Given the description of an element on the screen output the (x, y) to click on. 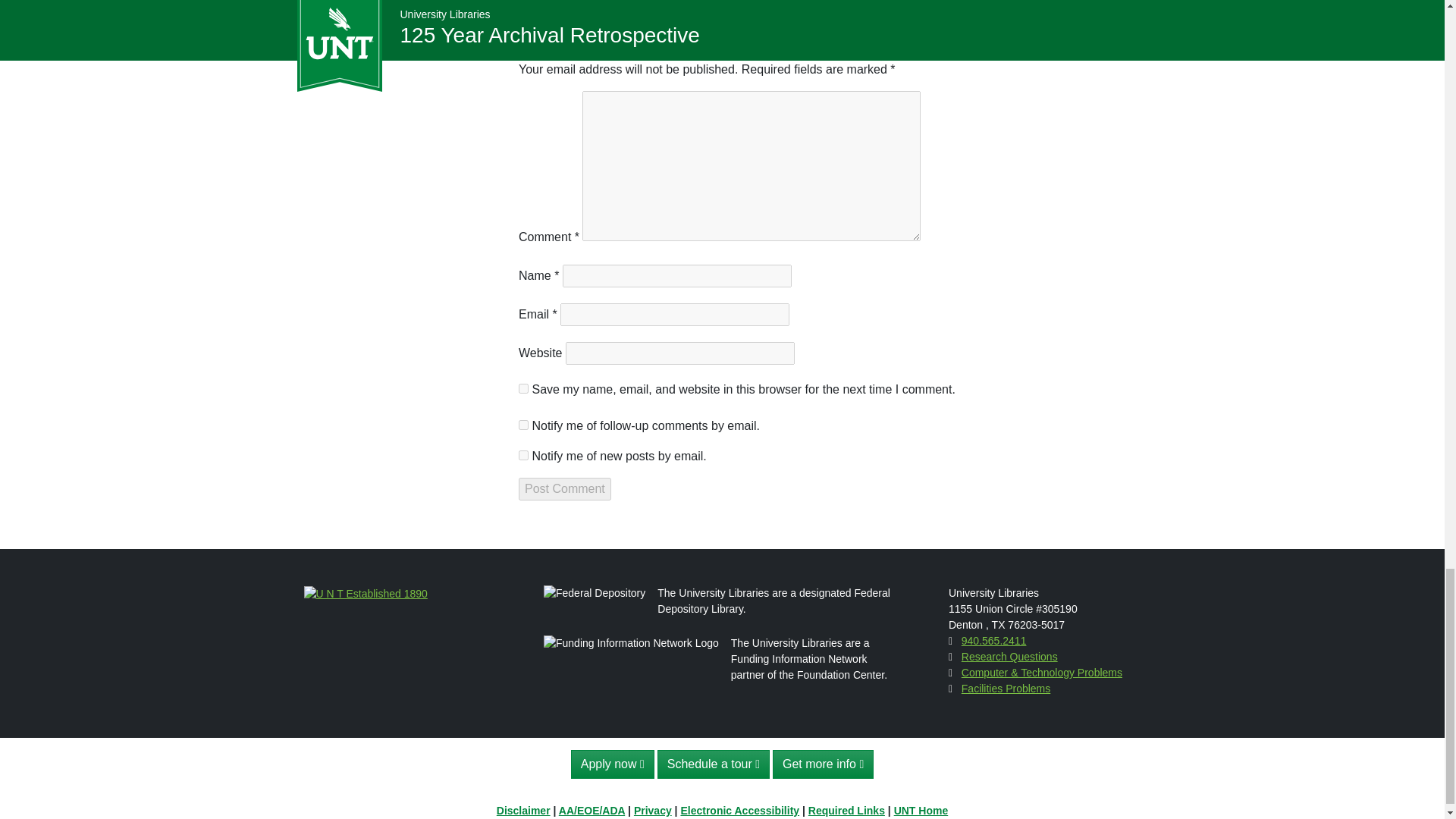
Reply (703, 6)
Post Comment (564, 488)
subscribe (523, 424)
yes (523, 388)
subscribe (523, 455)
Post Comment (564, 488)
March 27th, 2020 (639, 6)
